Given the description of an element on the screen output the (x, y) to click on. 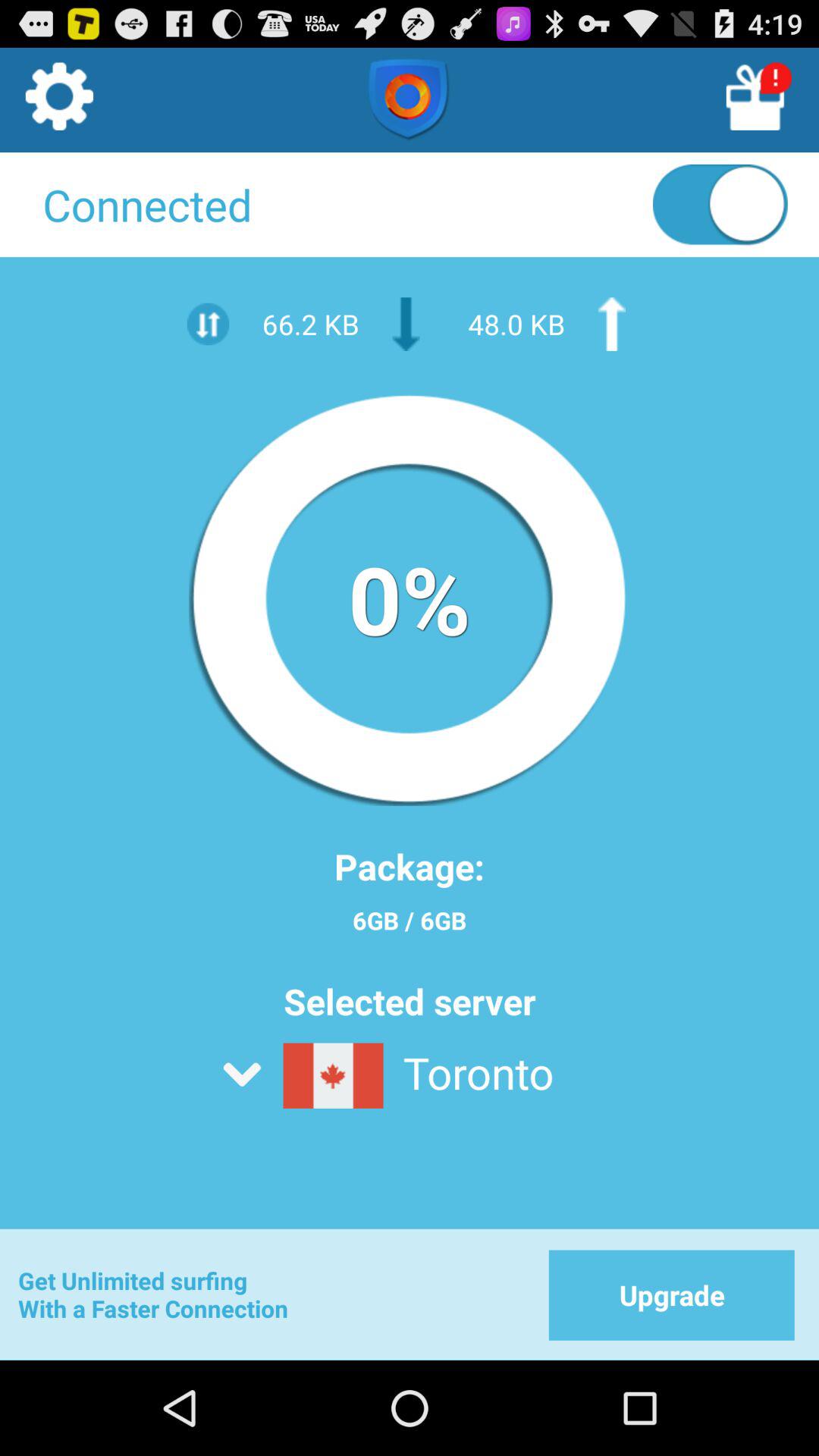
settings button (57, 100)
